Given the description of an element on the screen output the (x, y) to click on. 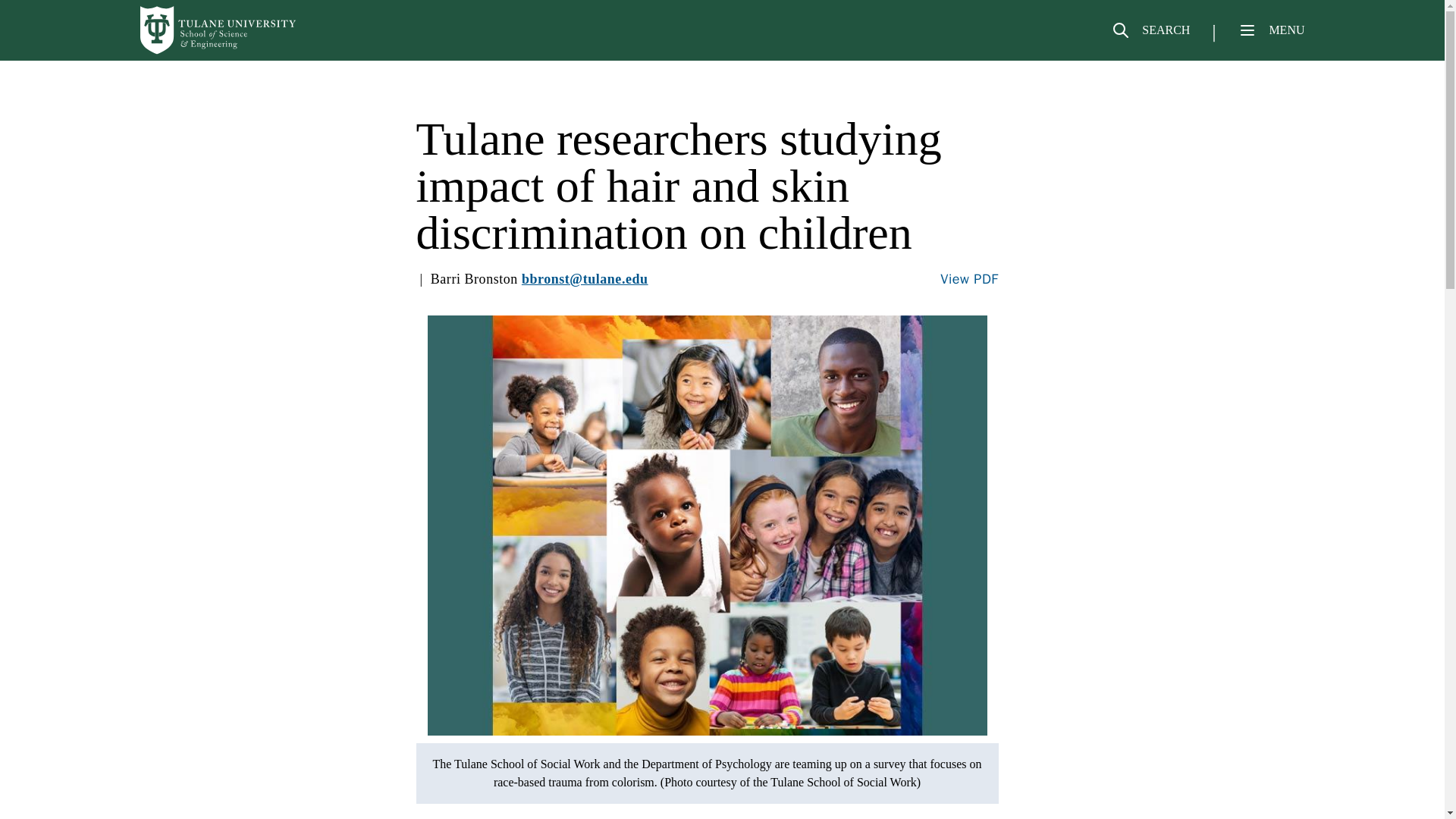
SEARCH (1150, 36)
Home (218, 29)
